Given the description of an element on the screen output the (x, y) to click on. 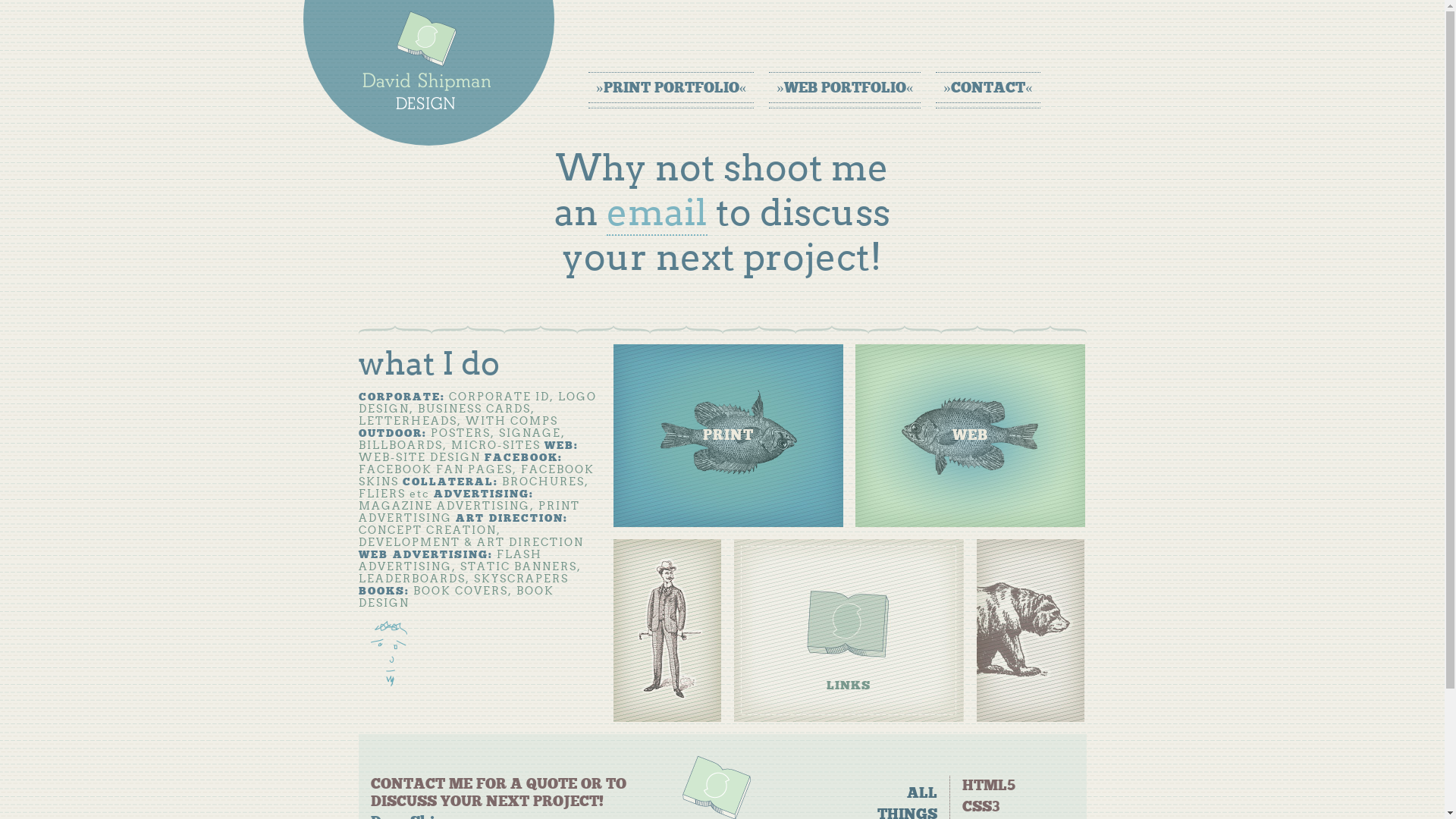
email Element type: text (656, 212)
